Given the description of an element on the screen output the (x, y) to click on. 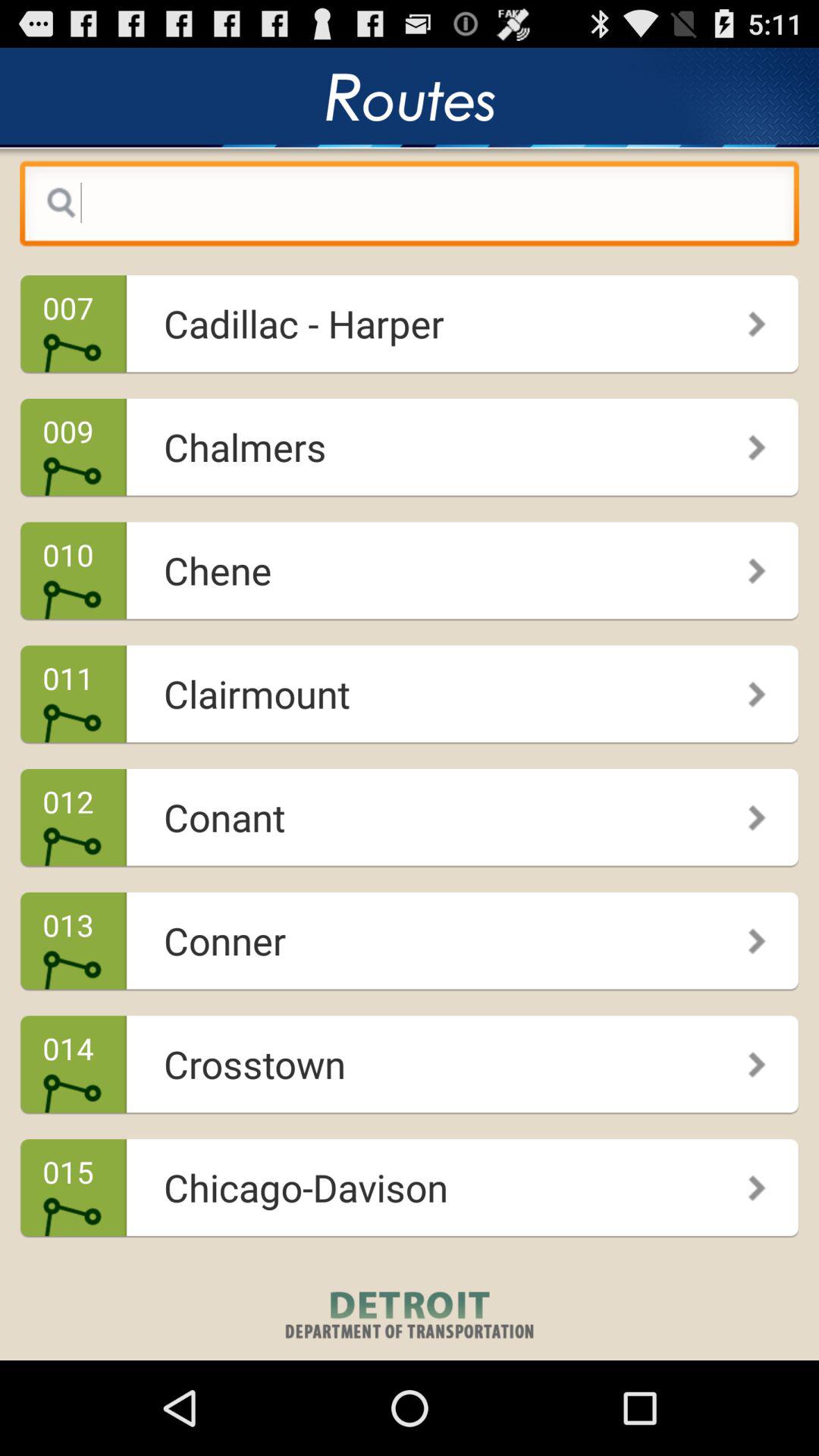
search (409, 207)
